Given the description of an element on the screen output the (x, y) to click on. 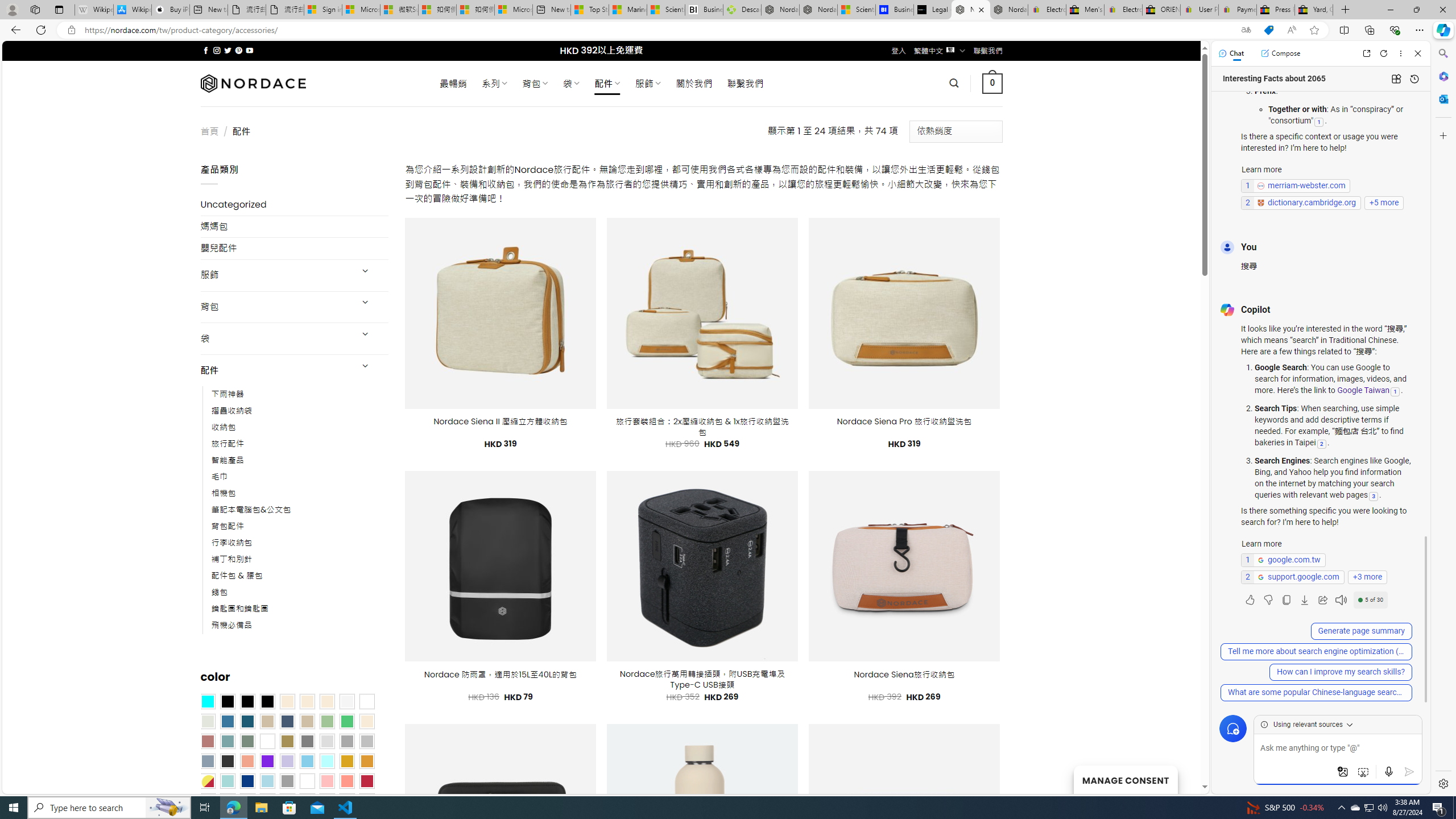
Nordace (252, 83)
 0  (992, 83)
Address and search bar (658, 29)
Minimize Search pane (1442, 53)
